Given the description of an element on the screen output the (x, y) to click on. 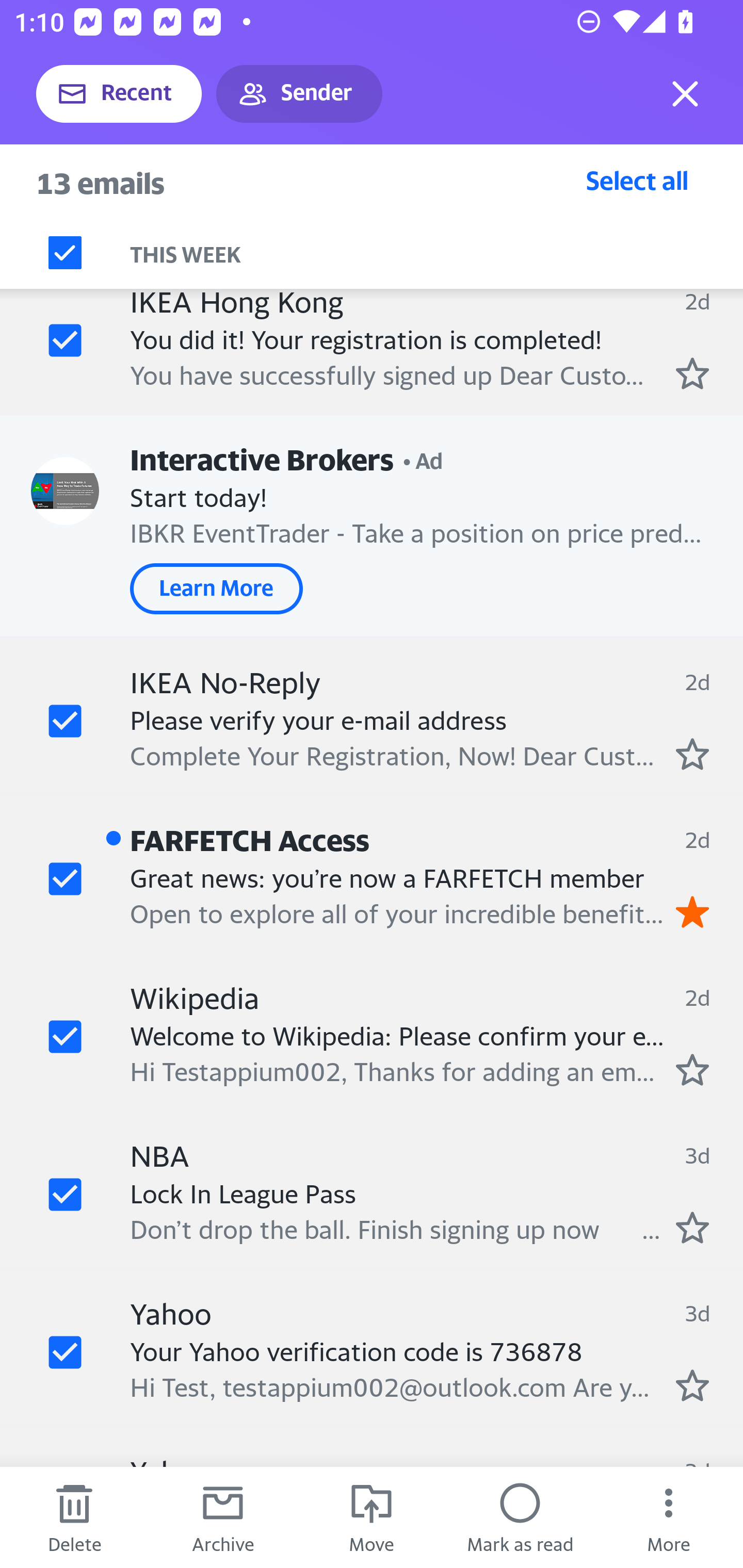
Sender (299, 93)
Exit selection mode (684, 93)
Select all (637, 180)
Mark as starred. (692, 373)
Mark as starred. (692, 753)
Remove star. (692, 911)
Mark as starred. (692, 1070)
Mark as starred. (692, 1226)
Mark as starred. (692, 1385)
Delete (74, 1517)
Archive (222, 1517)
Move (371, 1517)
Mark as read (519, 1517)
More (668, 1517)
